Given the description of an element on the screen output the (x, y) to click on. 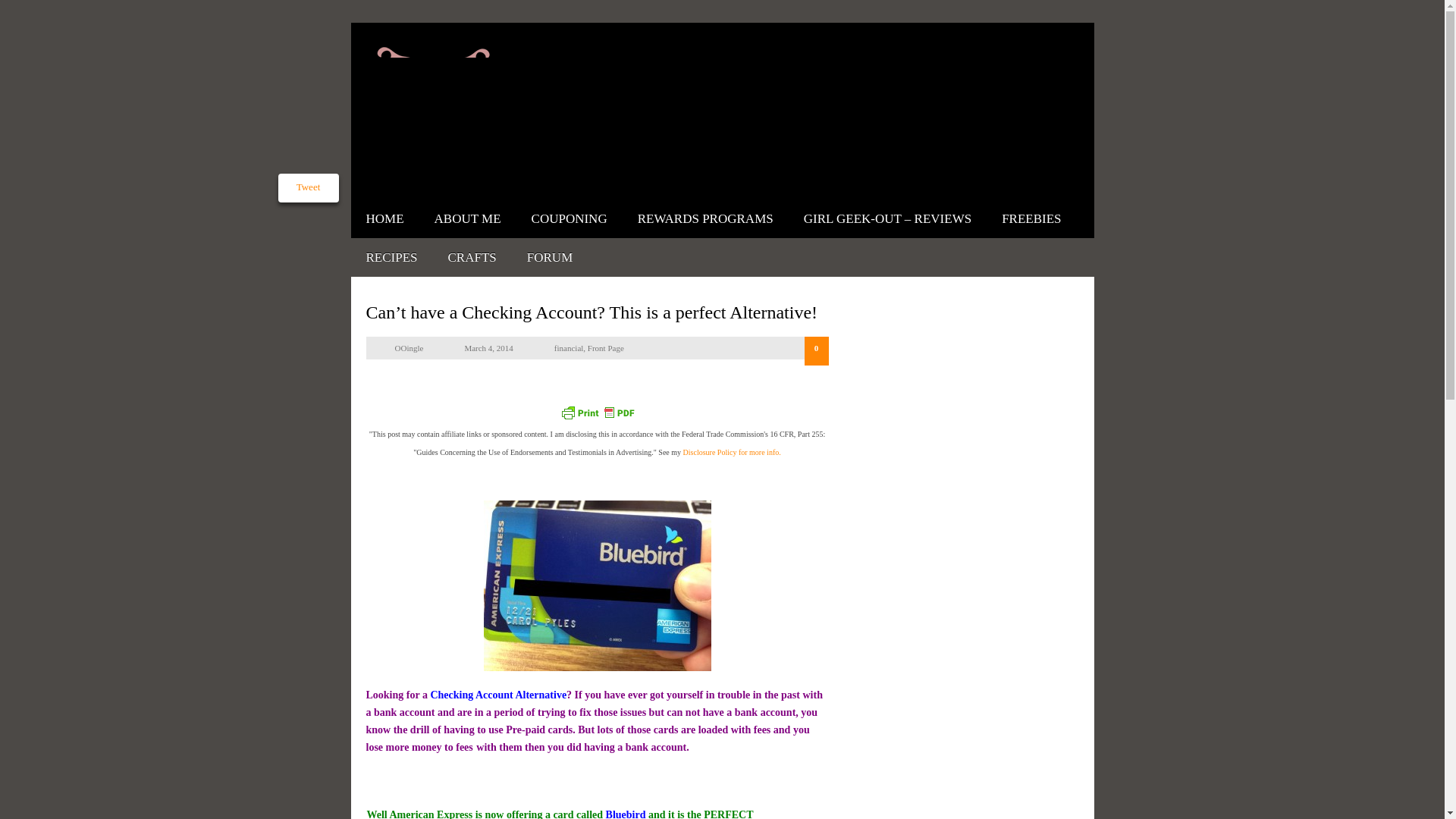
HOME (384, 218)
Home (384, 218)
COUPONING (569, 218)
REWARDS PROGRAMS (705, 218)
ABOUT ME (466, 218)
Disclosure Policy (731, 451)
Posts by OOingle (408, 347)
